Given the description of an element on the screen output the (x, y) to click on. 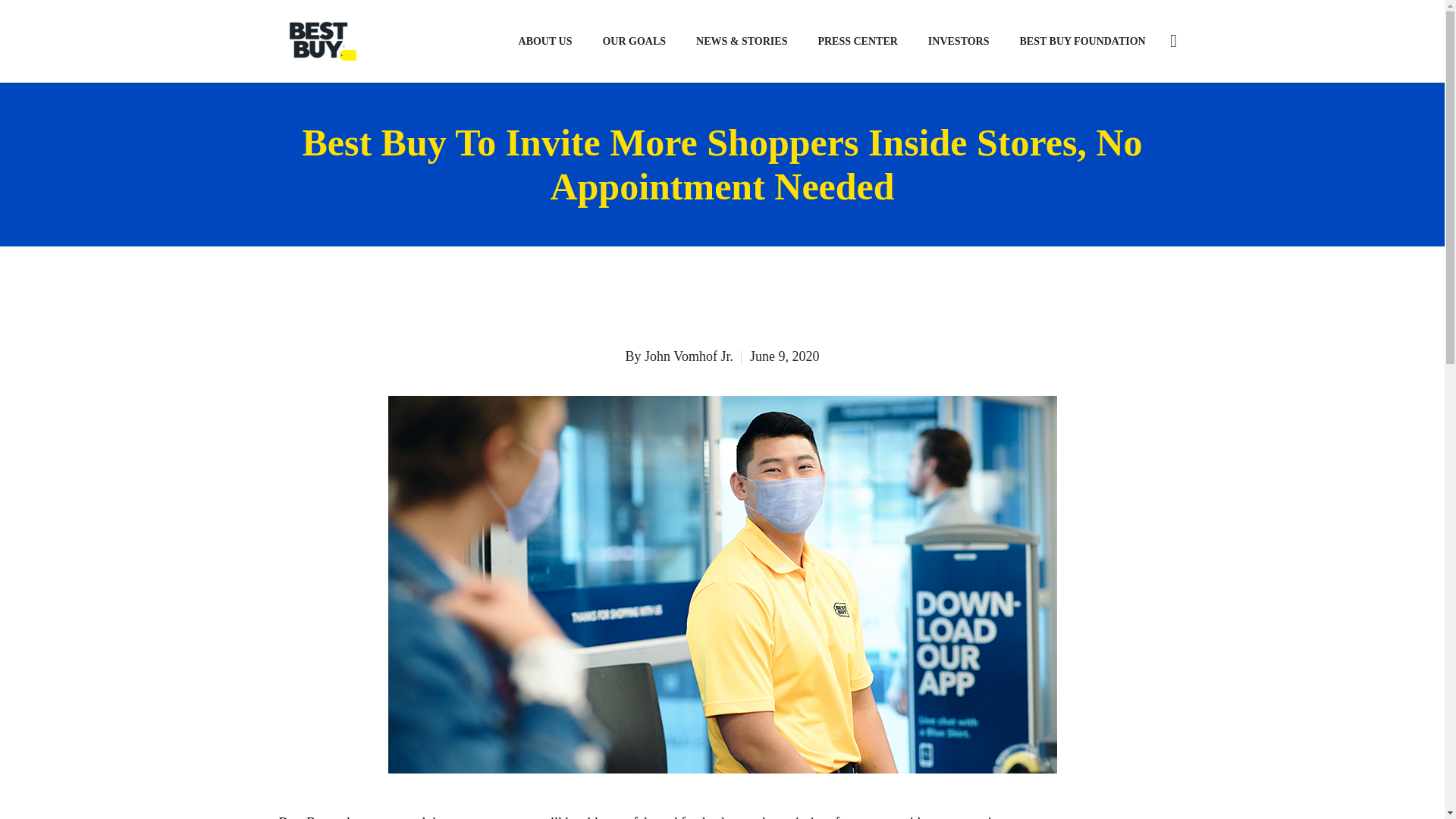
INVESTORS (958, 40)
BEST BUY FOUNDATION (1082, 40)
ABOUT US (545, 40)
PRESS CENTER (857, 40)
OUR GOALS (633, 40)
